Given the description of an element on the screen output the (x, y) to click on. 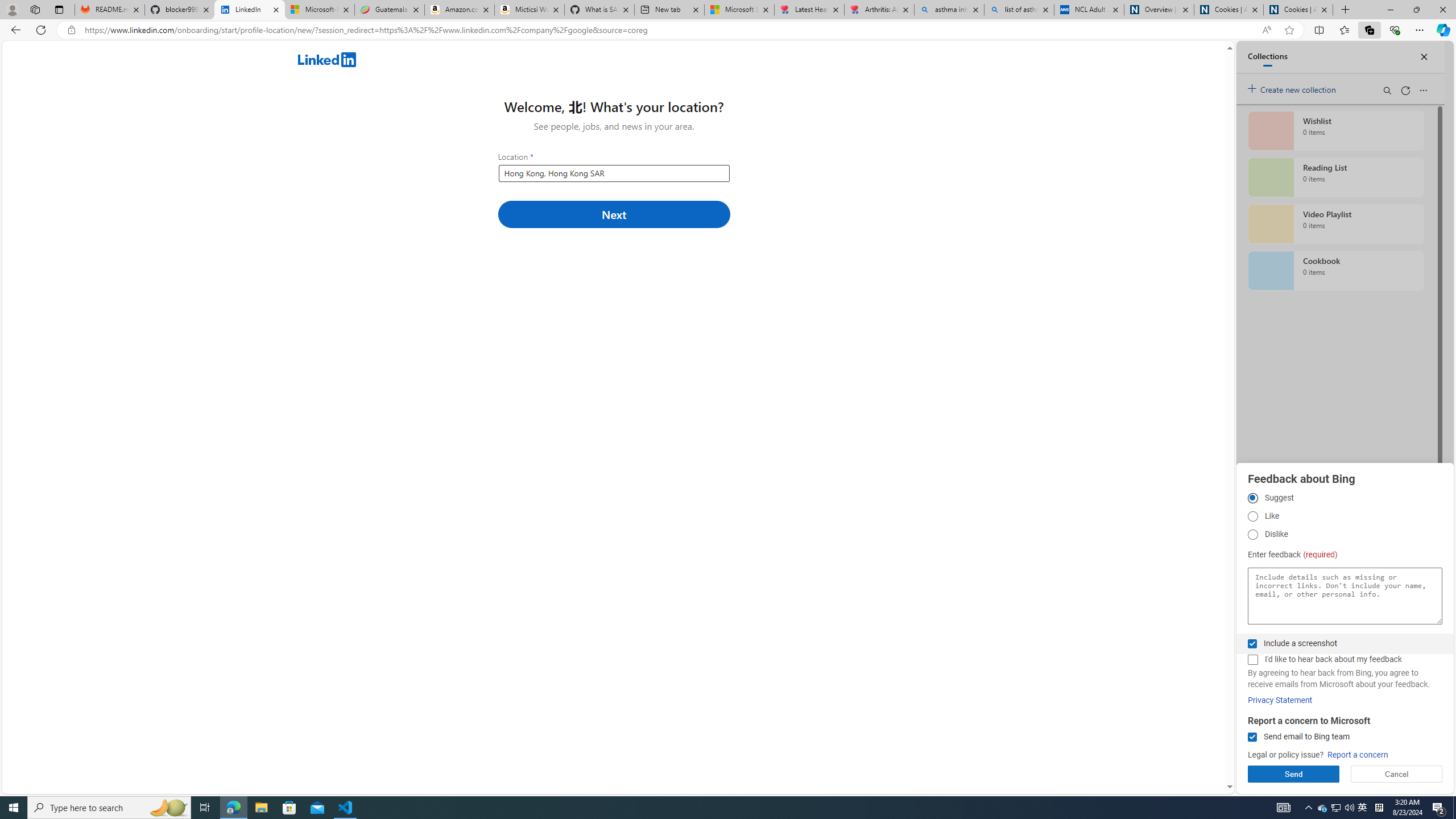
asthma inhaler - Search (949, 9)
Include a screenshot (1251, 643)
Privacy Statement (1280, 700)
